Given the description of an element on the screen output the (x, y) to click on. 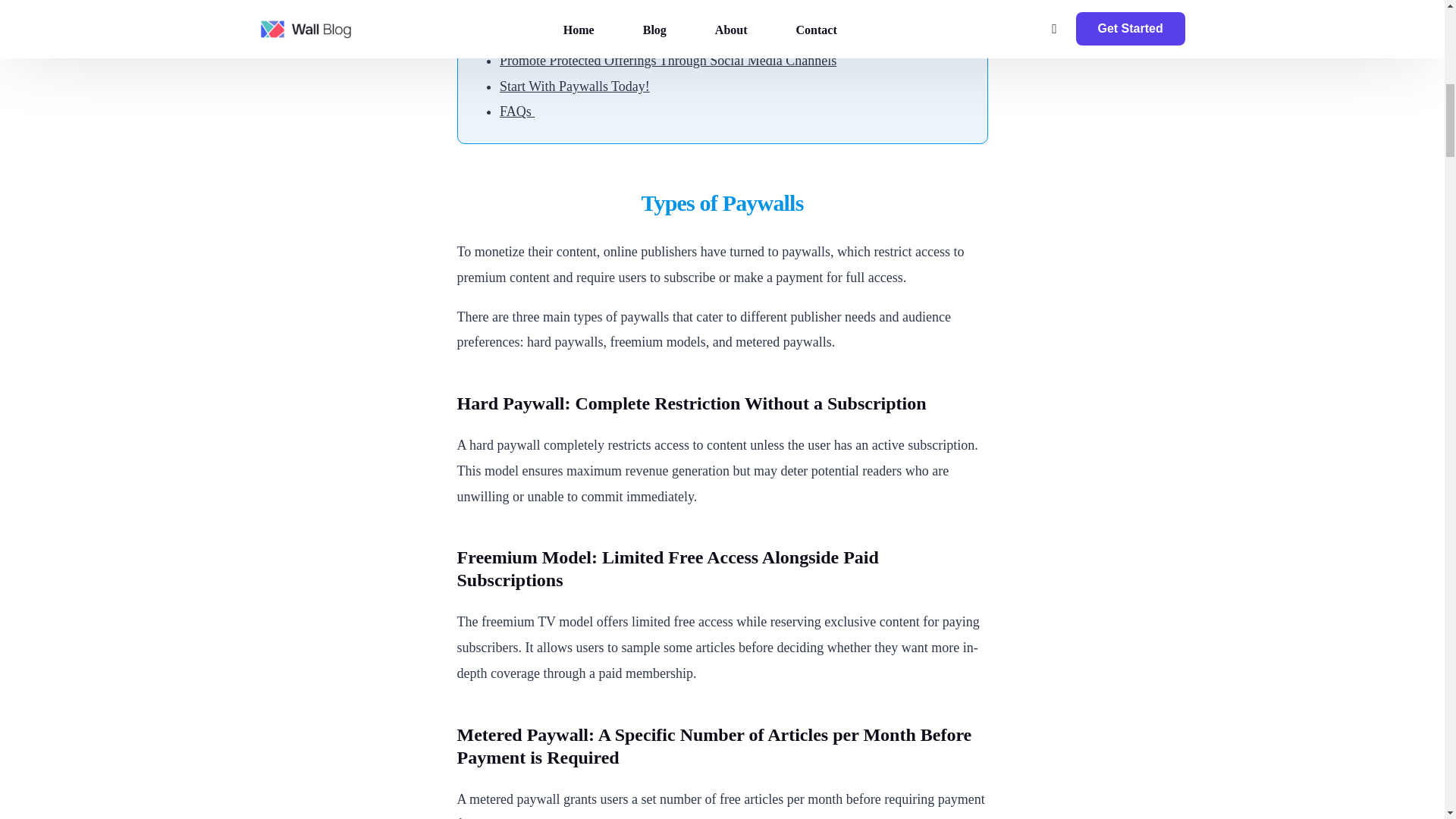
Promote Protected Offerings Through Social Media Channels (667, 60)
Implement Subscription Management Systems through AMP (665, 8)
Craft High-Quality Content Behind Paywalls (622, 34)
FAQs  (516, 111)
Start With Paywalls Today! (574, 86)
